Given the description of an element on the screen output the (x, y) to click on. 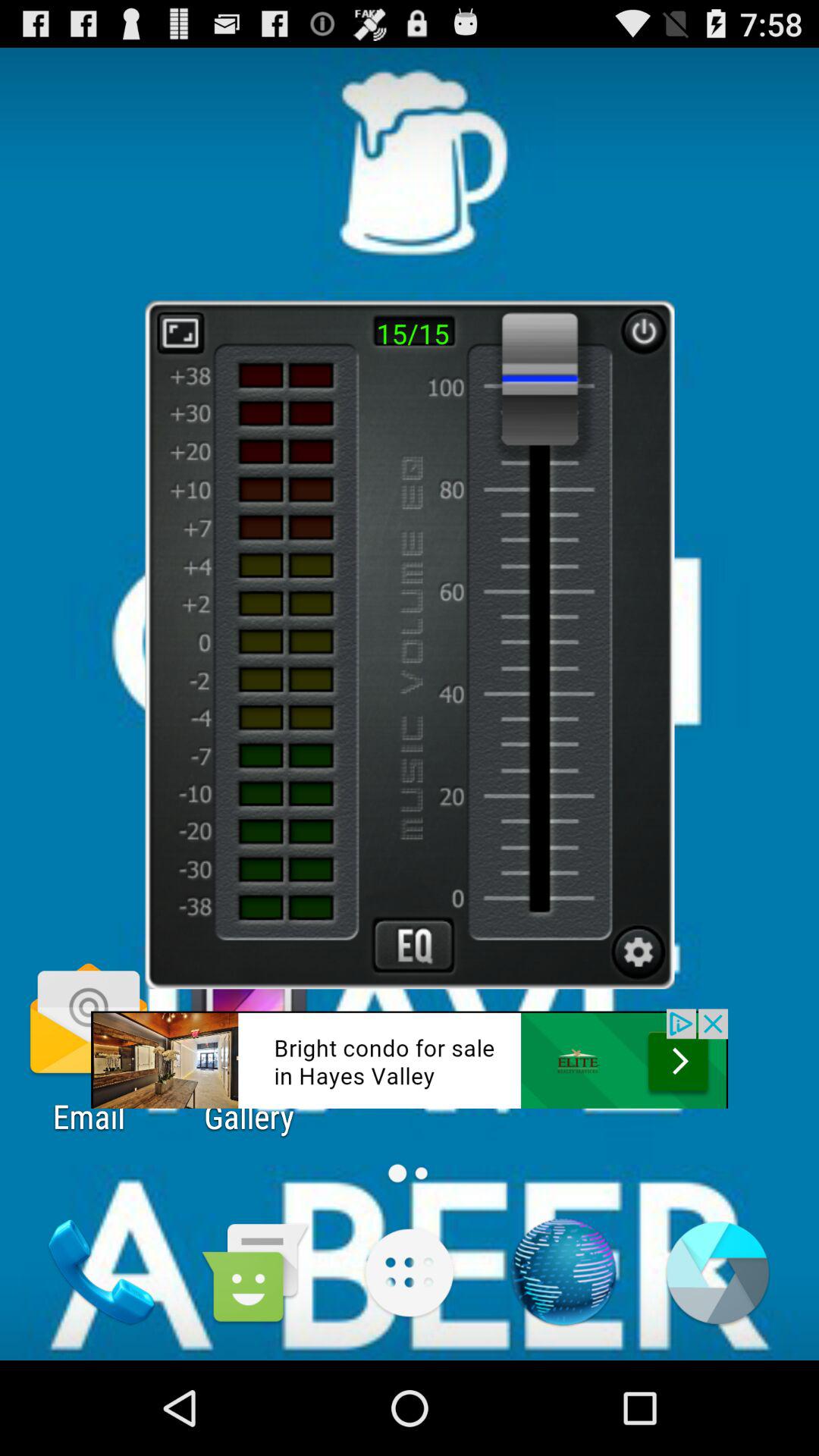
advertisement banner (409, 1058)
